Given the description of an element on the screen output the (x, y) to click on. 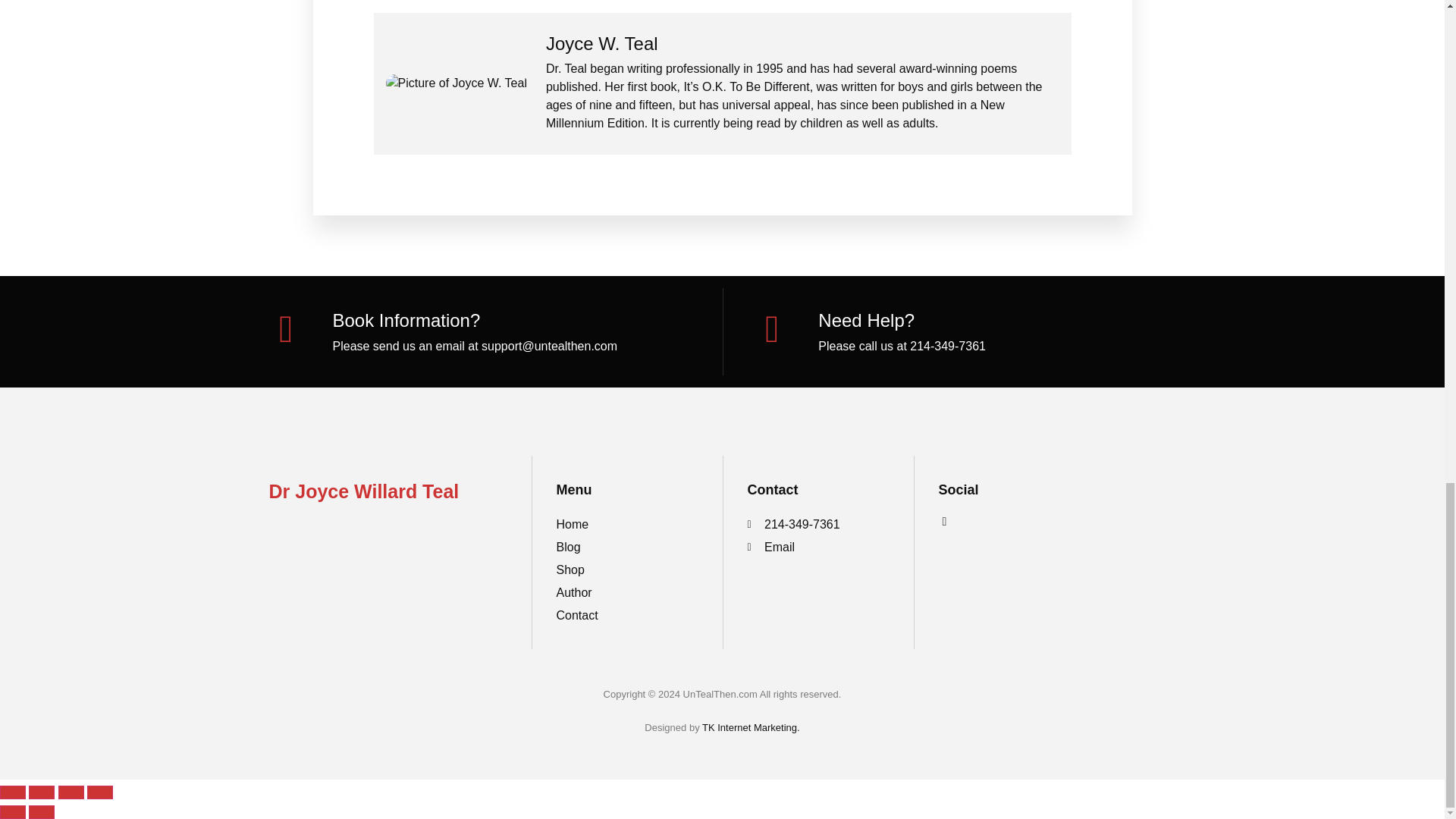
Dr Joyce Willard Teal (362, 491)
Email (818, 547)
TK Internet Marketing. (750, 727)
Shop (627, 570)
Author (627, 592)
Contact (627, 615)
Joyce W. Teal (802, 43)
Home (627, 524)
214-349-7361 (818, 524)
Blog (627, 547)
